Given the description of an element on the screen output the (x, y) to click on. 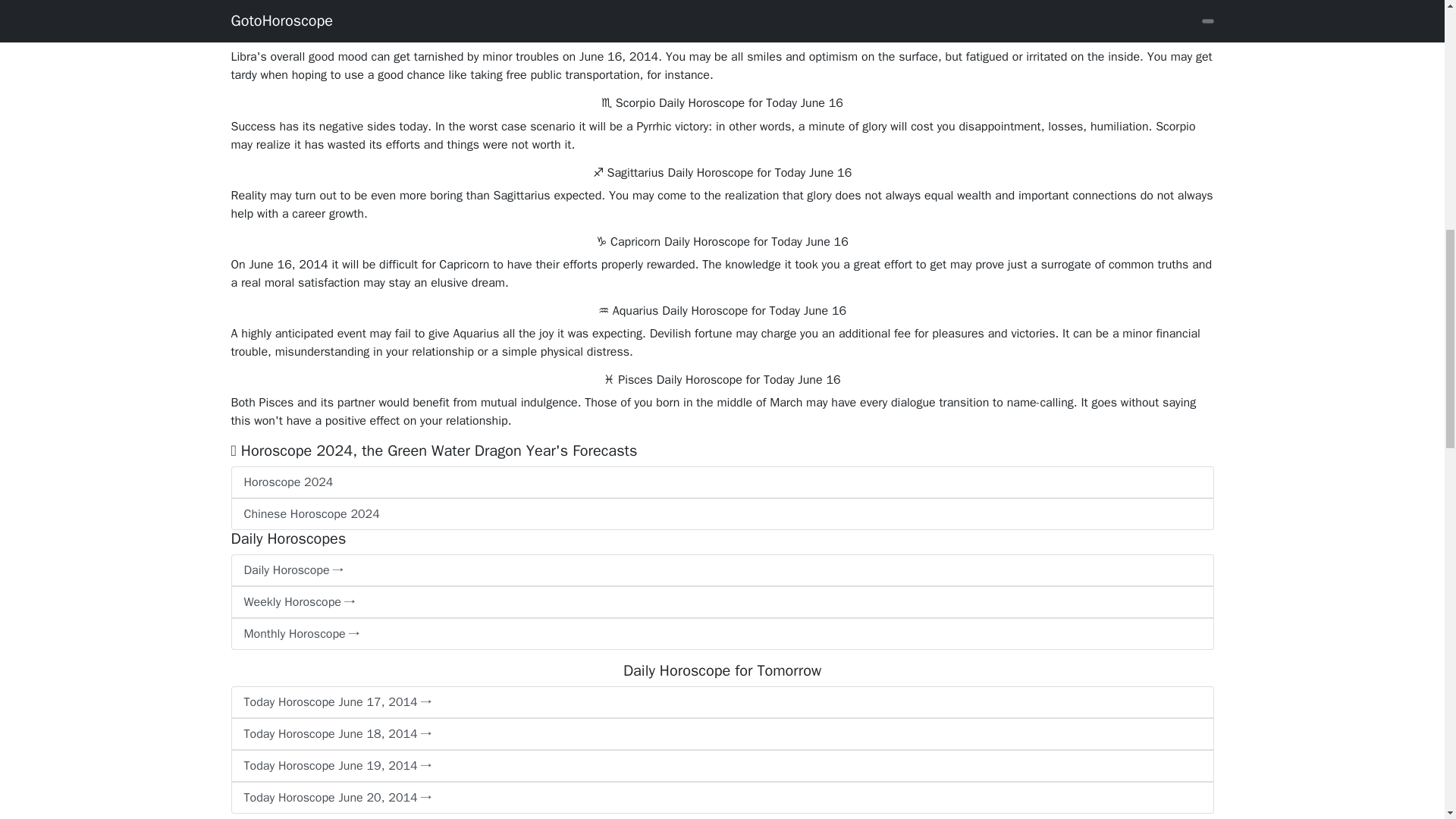
Today Horoscope June 19, 2014 (721, 766)
Monthly Horoscope (721, 634)
Daily Horoscope (721, 570)
Weekly Horoscope (721, 602)
Chinese Horoscope 2024 (721, 513)
Horoscope 2024 (721, 481)
Today Horoscope June 17, 2014 (721, 702)
Today Horoscope June 18, 2014 (721, 734)
Today Horoscope June 20, 2014 (721, 798)
